Given the description of an element on the screen output the (x, y) to click on. 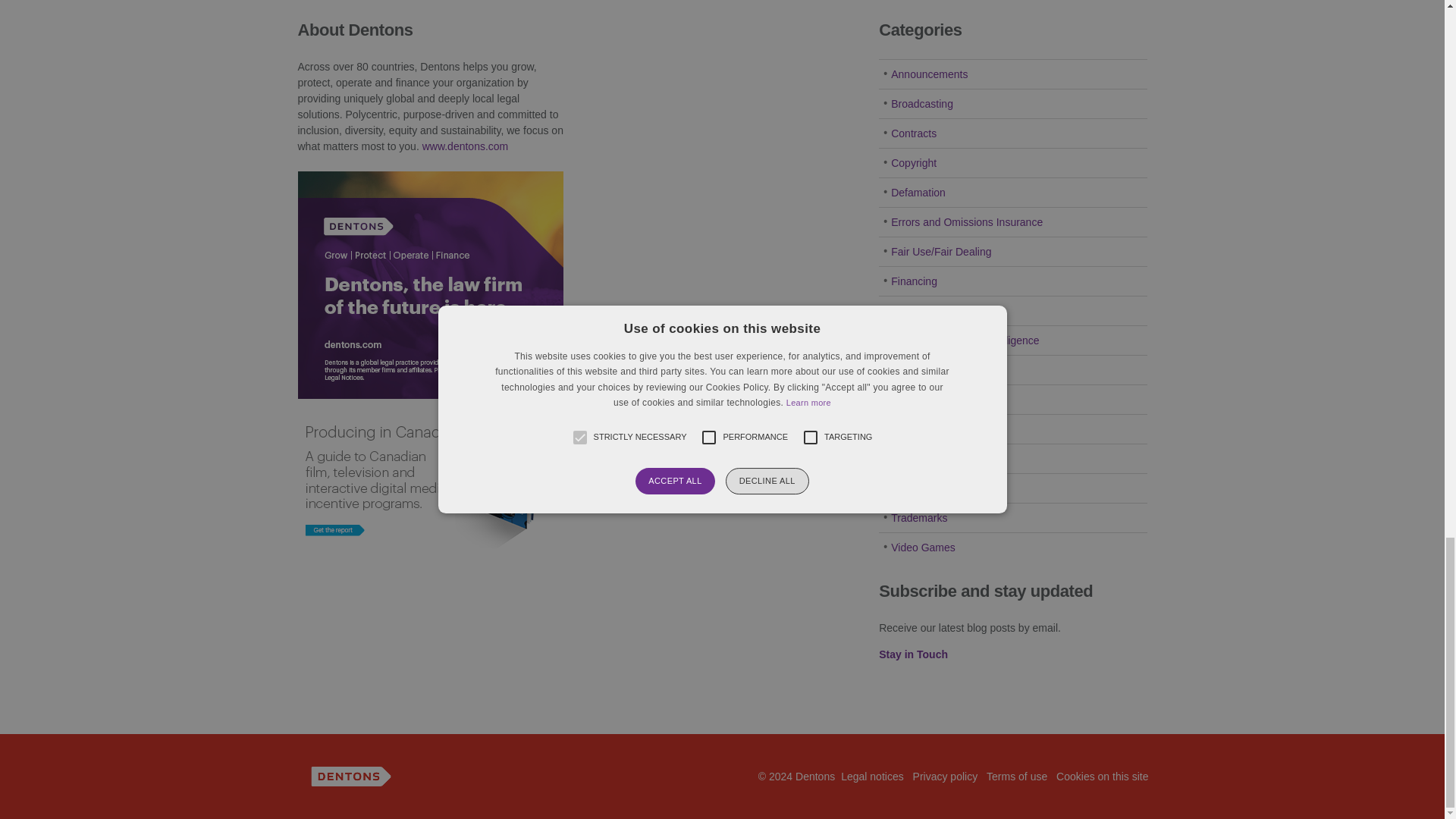
www.dentons.com (465, 146)
Broadcasting (922, 103)
Announcements (929, 73)
